Given the description of an element on the screen output the (x, y) to click on. 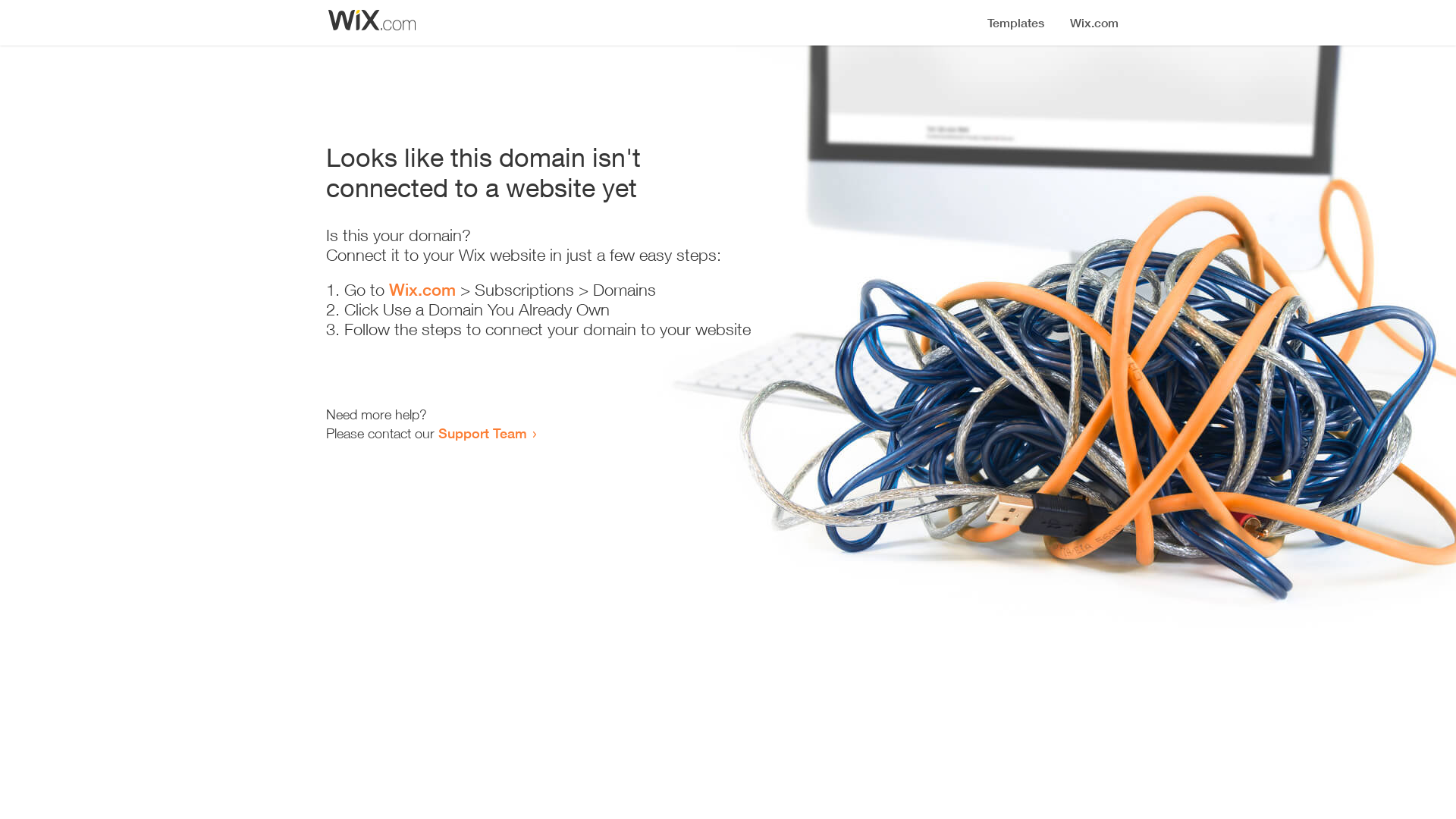
Support Team Element type: text (482, 432)
Wix.com Element type: text (422, 289)
